Given the description of an element on the screen output the (x, y) to click on. 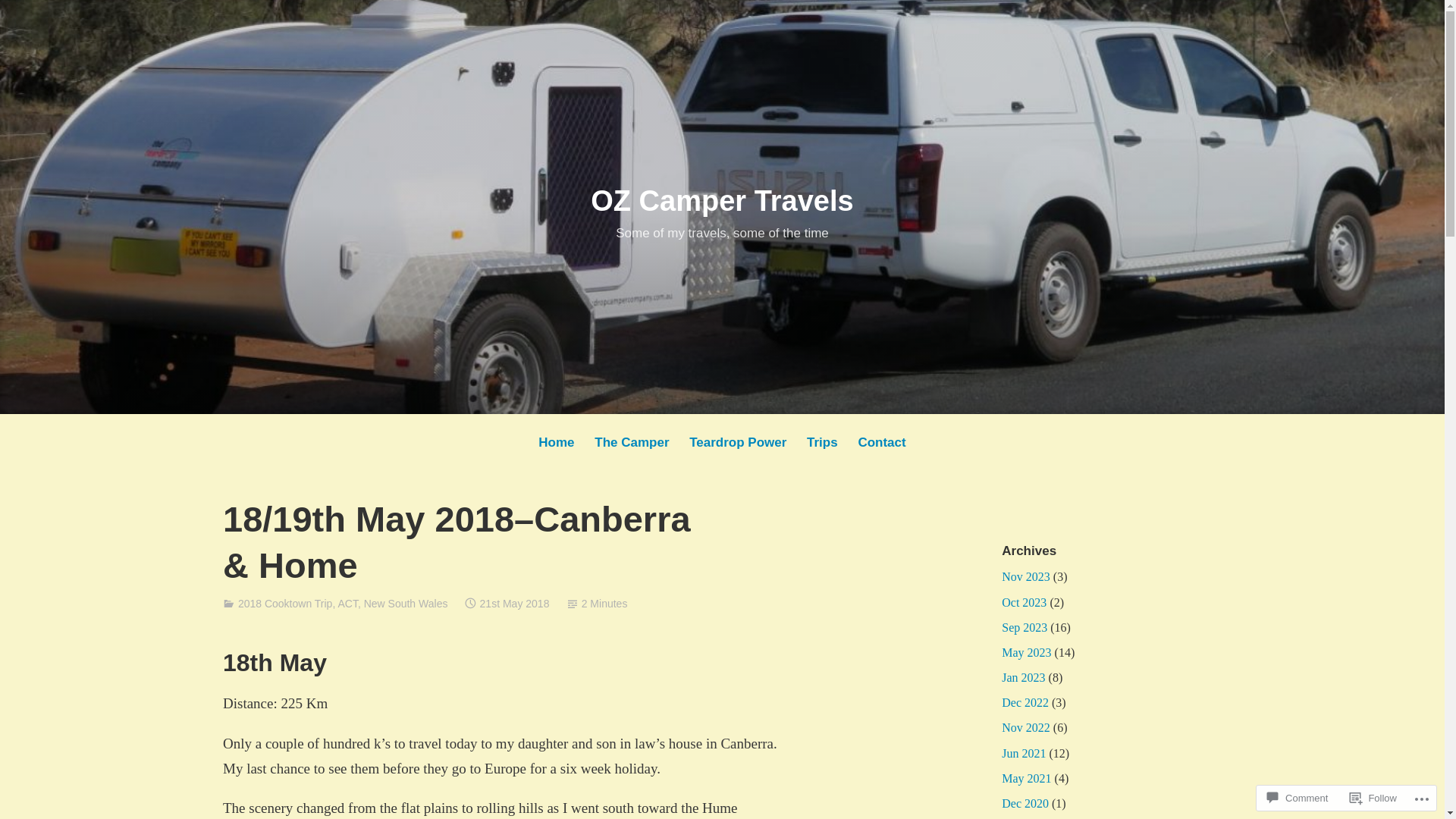
Jun 2021 Element type: text (1023, 752)
Nov 2023 Element type: text (1025, 576)
2018 Cooktown Trip Element type: text (285, 603)
Teardrop Power Element type: text (738, 443)
New South Wales Element type: text (406, 603)
The Camper Element type: text (631, 443)
May 2021 Element type: text (1026, 777)
Dec 2020 Element type: text (1024, 803)
Home Element type: text (556, 443)
OZ Camper Travels Element type: text (721, 200)
Oct 2023 Element type: text (1023, 602)
ACT Element type: text (347, 603)
May 2023 Element type: text (1026, 652)
Dec 2022 Element type: text (1024, 702)
Follow Element type: text (1372, 797)
Nov 2022 Element type: text (1025, 727)
Jan 2023 Element type: text (1022, 677)
Comment Element type: text (1297, 797)
Contact Element type: text (881, 443)
Sep 2023 Element type: text (1024, 627)
Trips Element type: text (822, 443)
